Given the description of an element on the screen output the (x, y) to click on. 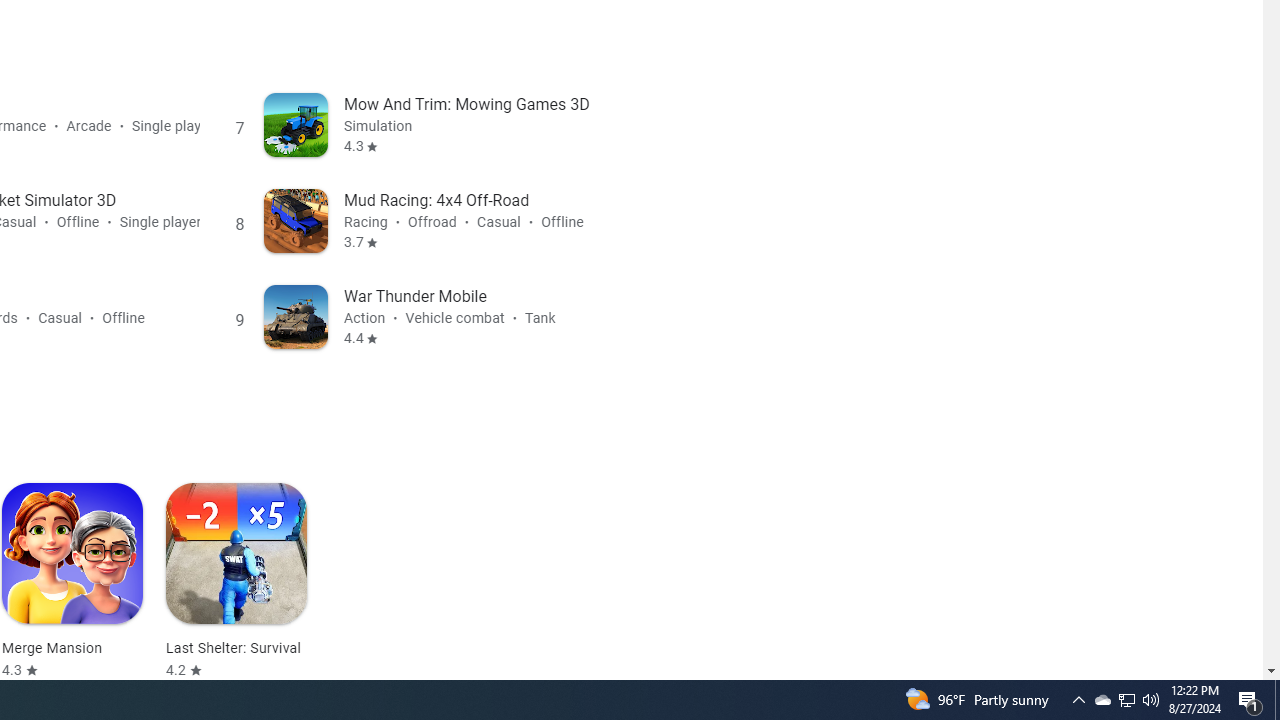
Last Shelter: Survival Rated 4.2 stars out of five stars (236, 581)
Merge Mansion Rated 4.3 stars out of five stars (72, 581)
